Given the description of an element on the screen output the (x, y) to click on. 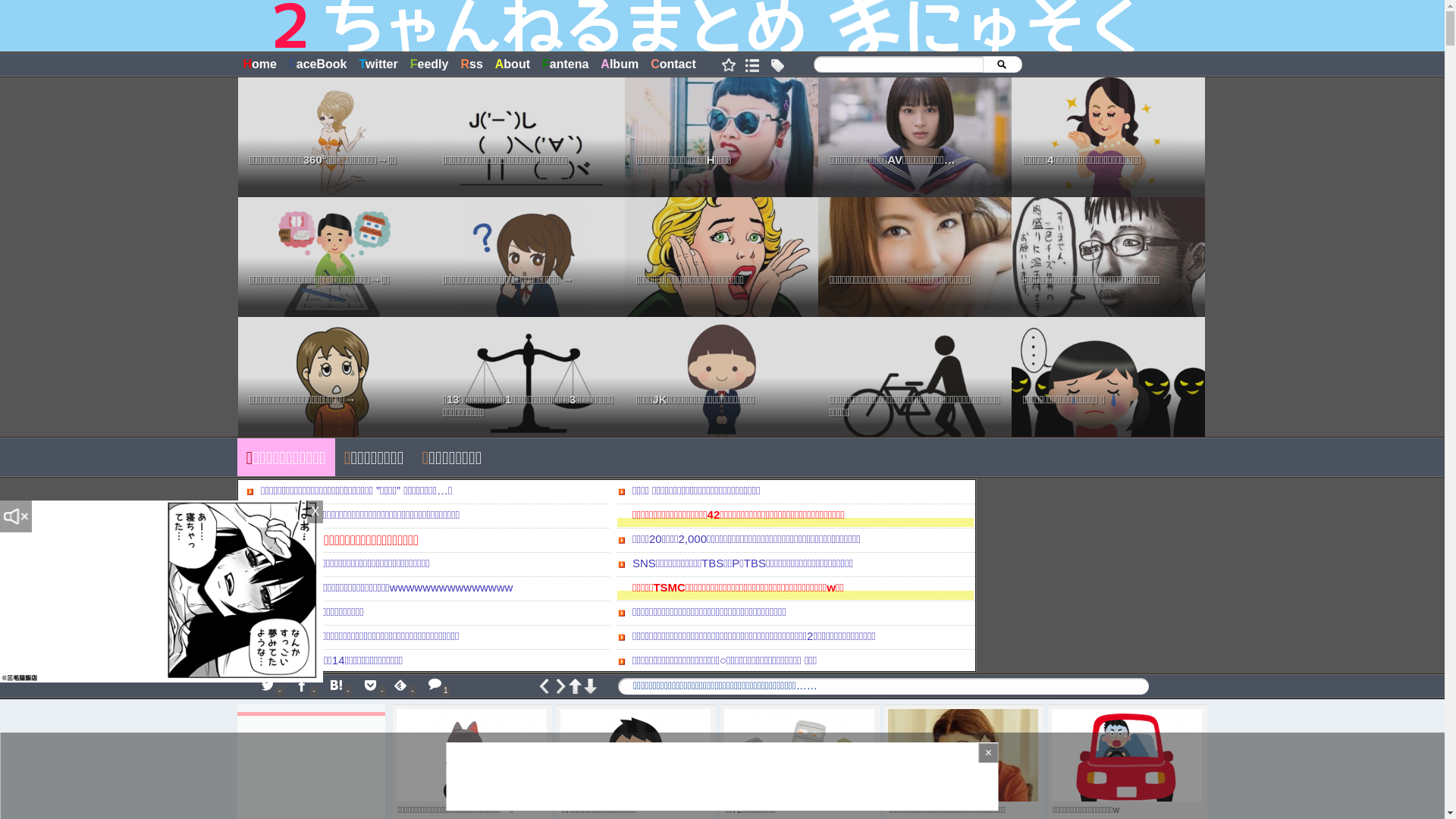
- Element type: text (402, 686)
Home Element type: text (259, 64)
Contact Element type: text (673, 64)
1 Element type: text (436, 685)
About Element type: text (512, 64)
- Element type: text (304, 686)
- Element type: text (337, 686)
Rss Element type: text (471, 64)
Fantena Element type: text (565, 64)
FaceBook Element type: text (317, 64)
Search Element type: text (1001, 64)
Feedly Element type: text (429, 64)
- Element type: text (269, 686)
- Element type: text (372, 686)
Twitter Element type: text (377, 64)
Album Element type: text (619, 64)
